Given the description of an element on the screen output the (x, y) to click on. 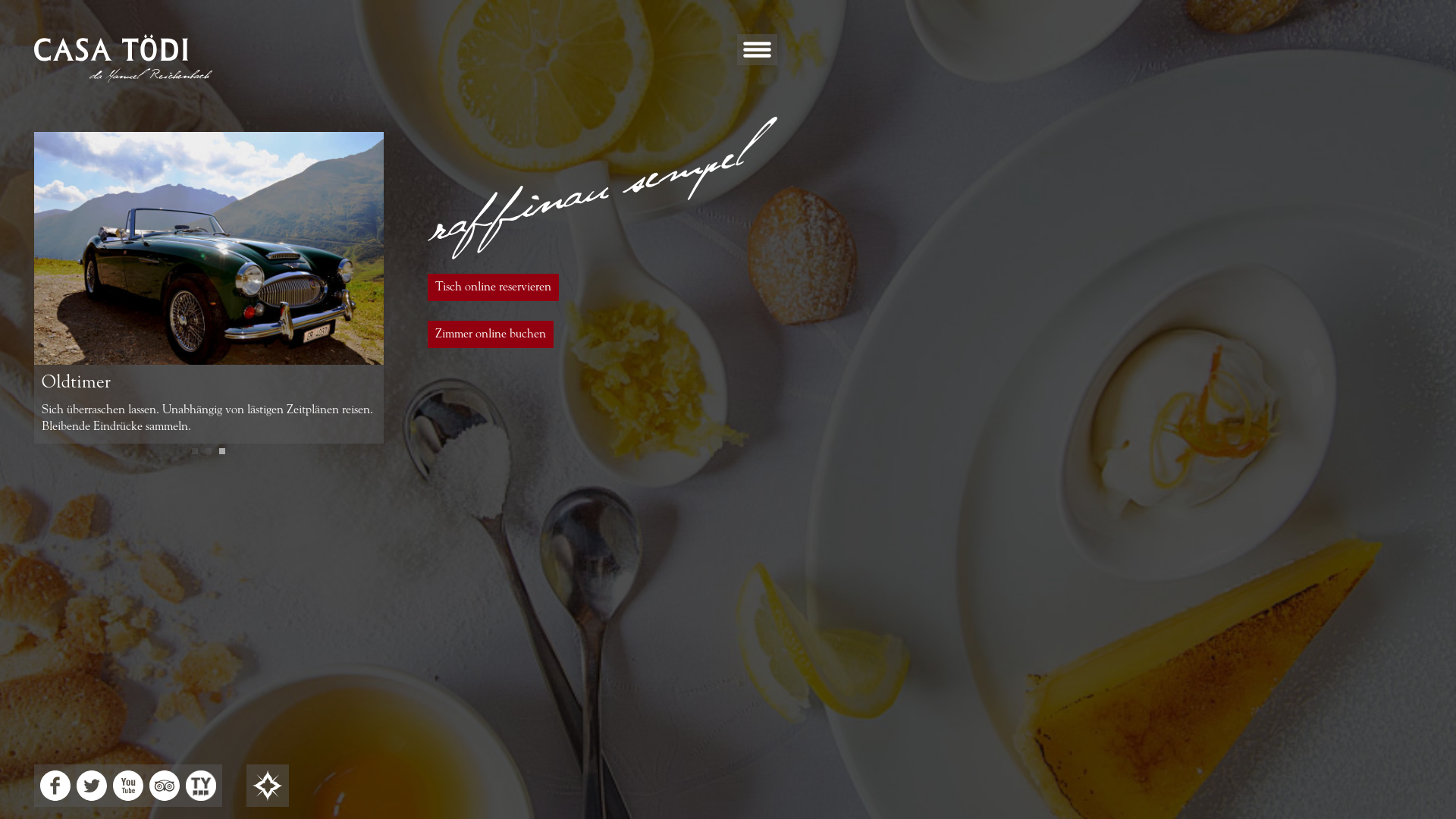
Tisch online reservieren Element type: text (492, 287)
Zimmer online buchen Element type: text (490, 334)
Menu Element type: hover (757, 62)
raffinau sempel Element type: hover (602, 187)
Hintergrundbild Element type: hover (267, 785)
